Given the description of an element on the screen output the (x, y) to click on. 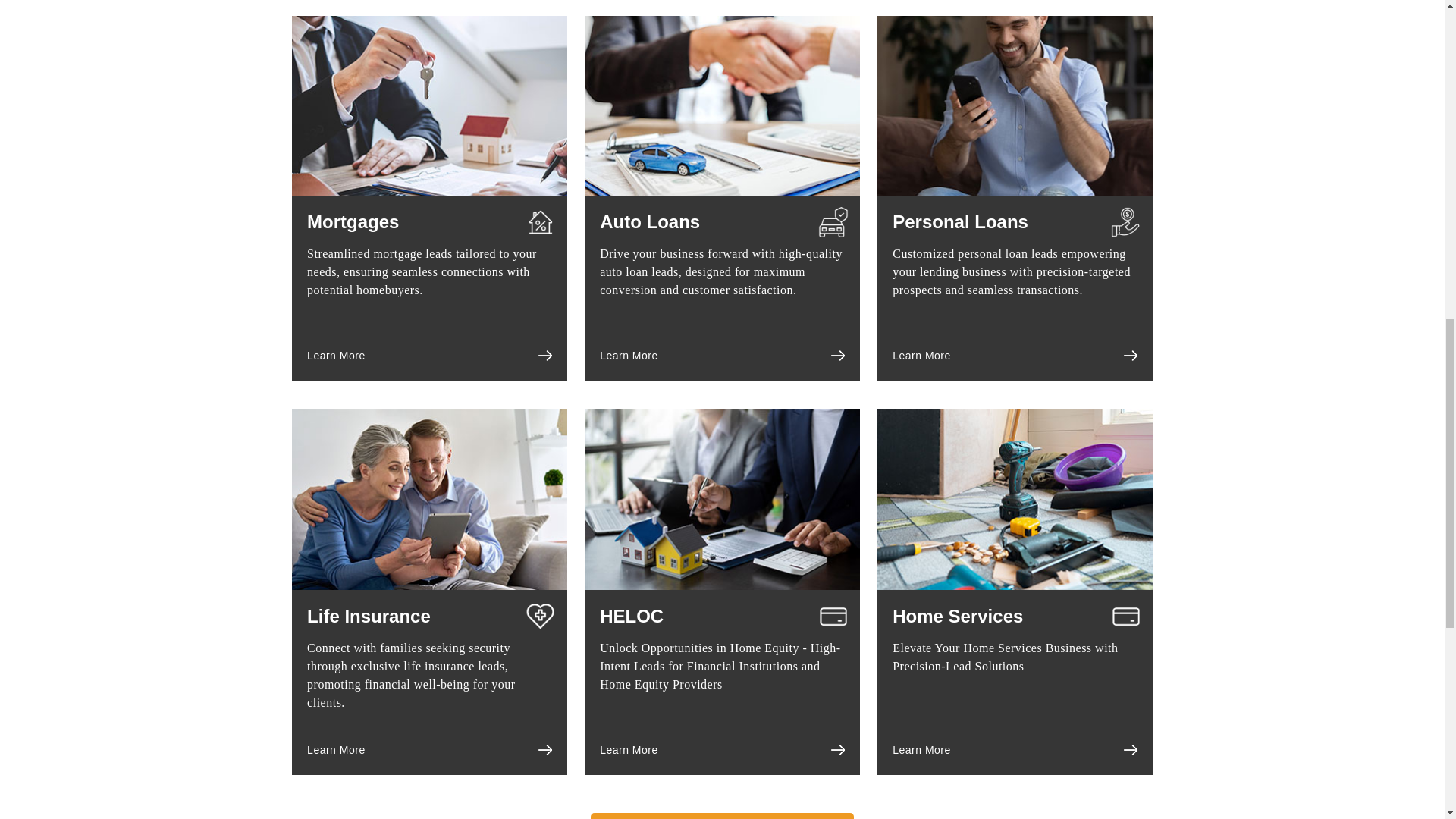
Learn More (921, 355)
Learn More (628, 749)
Learn More (628, 355)
Partner With Us (722, 816)
Learn More (336, 749)
Learn More (921, 749)
Learn More (336, 355)
